Given the description of an element on the screen output the (x, y) to click on. 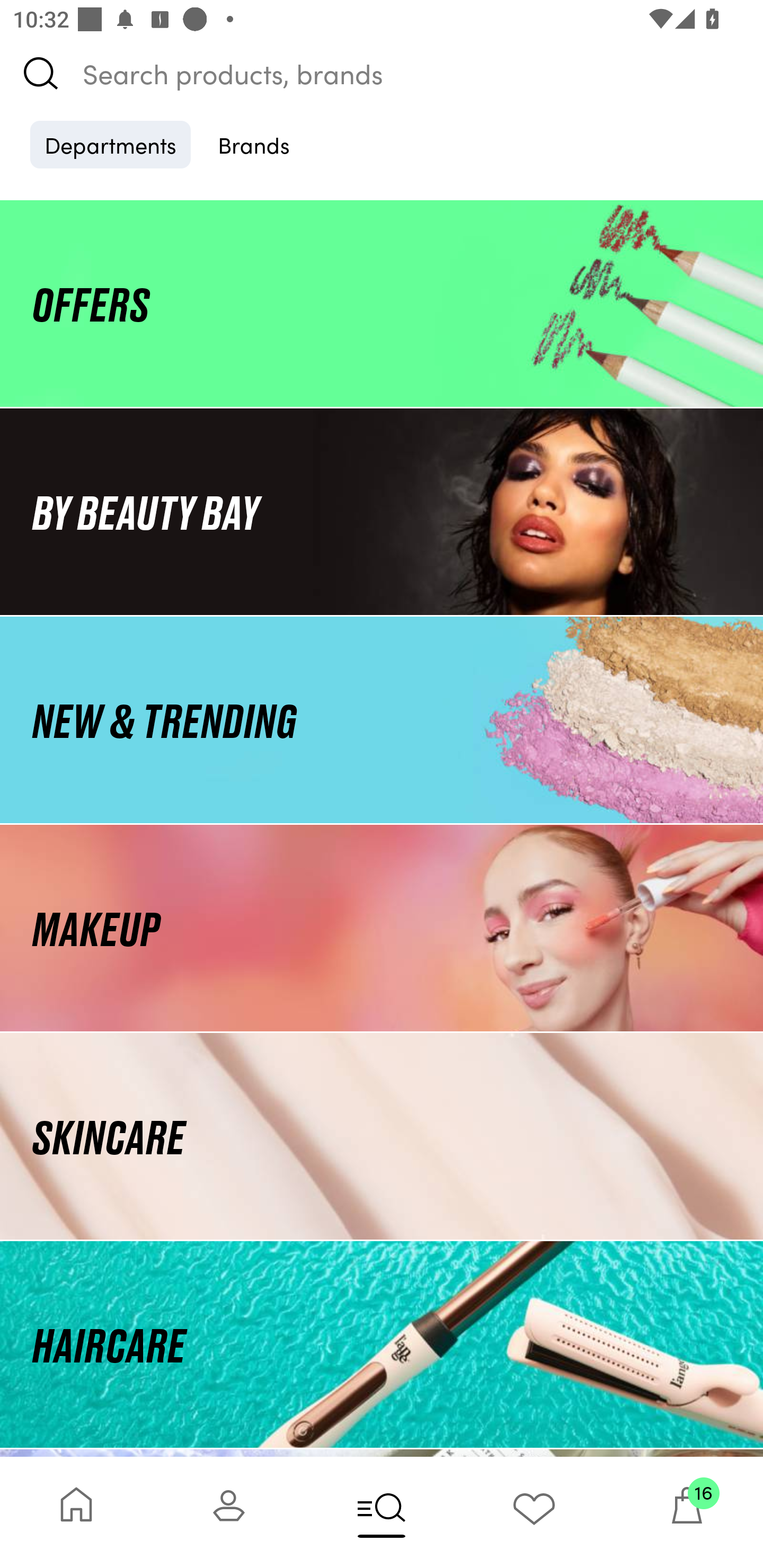
Search products, brands (381, 72)
Departments (110, 143)
Brands (253, 143)
OFFERS (381, 303)
BY BEAUTY BAY (381, 510)
NEW & TRENDING (381, 719)
MAKEUP (381, 927)
SKINCARE (381, 1136)
HAIRCARE (381, 1344)
16 (686, 1512)
